Given the description of an element on the screen output the (x, y) to click on. 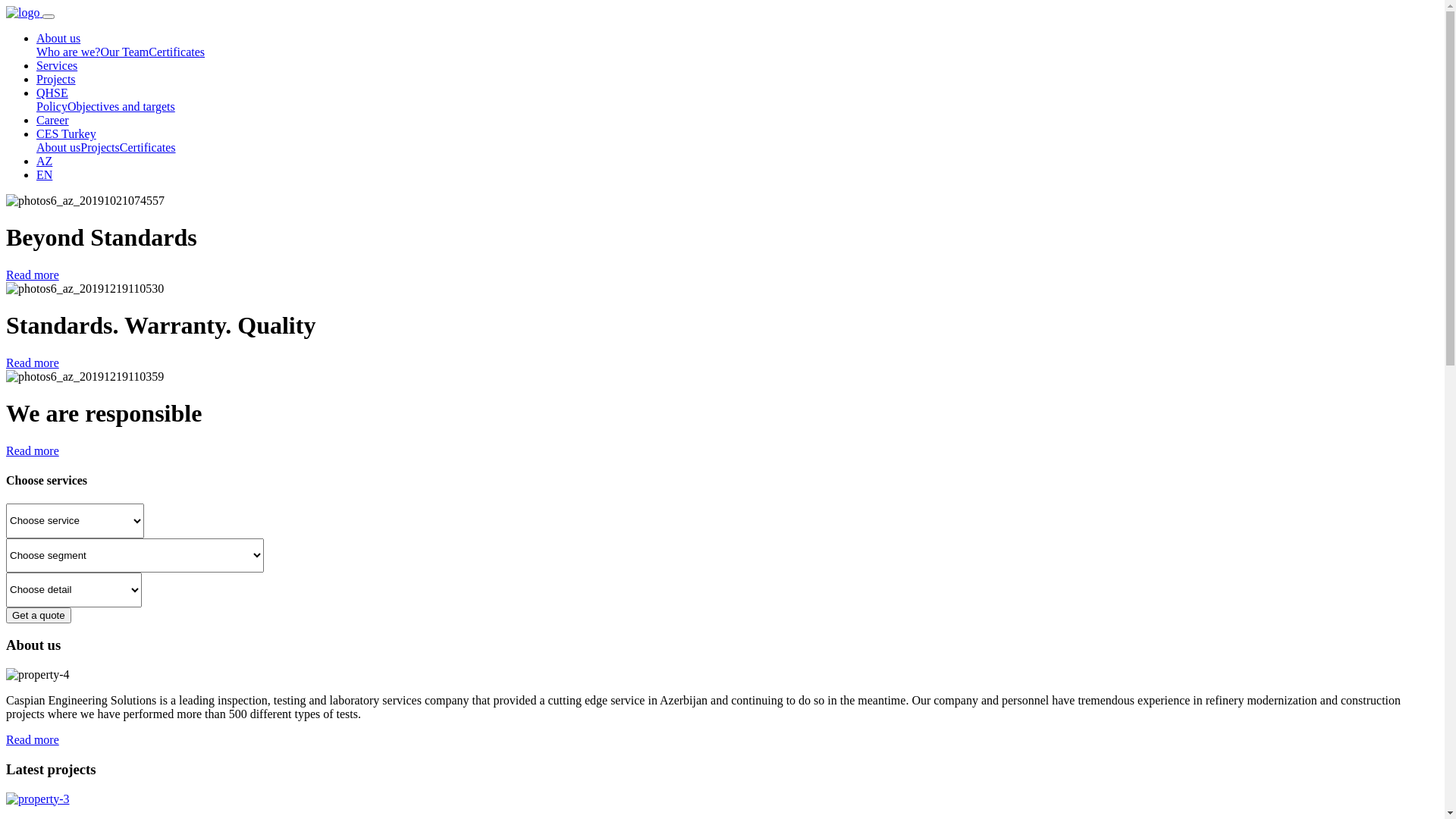
QHSE Element type: text (52, 92)
Read more Element type: text (32, 739)
Read more Element type: text (32, 450)
Career Element type: text (52, 119)
Certificates Element type: text (147, 147)
Projects Element type: text (99, 147)
Objectives and targets Element type: text (121, 106)
Policy Element type: text (51, 106)
Read more Element type: text (32, 274)
Certificates Element type: text (176, 51)
About us Element type: text (58, 37)
Services Element type: text (56, 65)
Read more Element type: text (32, 362)
Projects Element type: text (55, 78)
Our Team Element type: text (124, 51)
Get a quote Element type: text (38, 615)
CES Turkey Element type: text (66, 133)
AZ Element type: text (44, 160)
Who are we? Element type: text (68, 51)
About us Element type: text (58, 147)
EN Element type: text (44, 174)
